Given the description of an element on the screen output the (x, y) to click on. 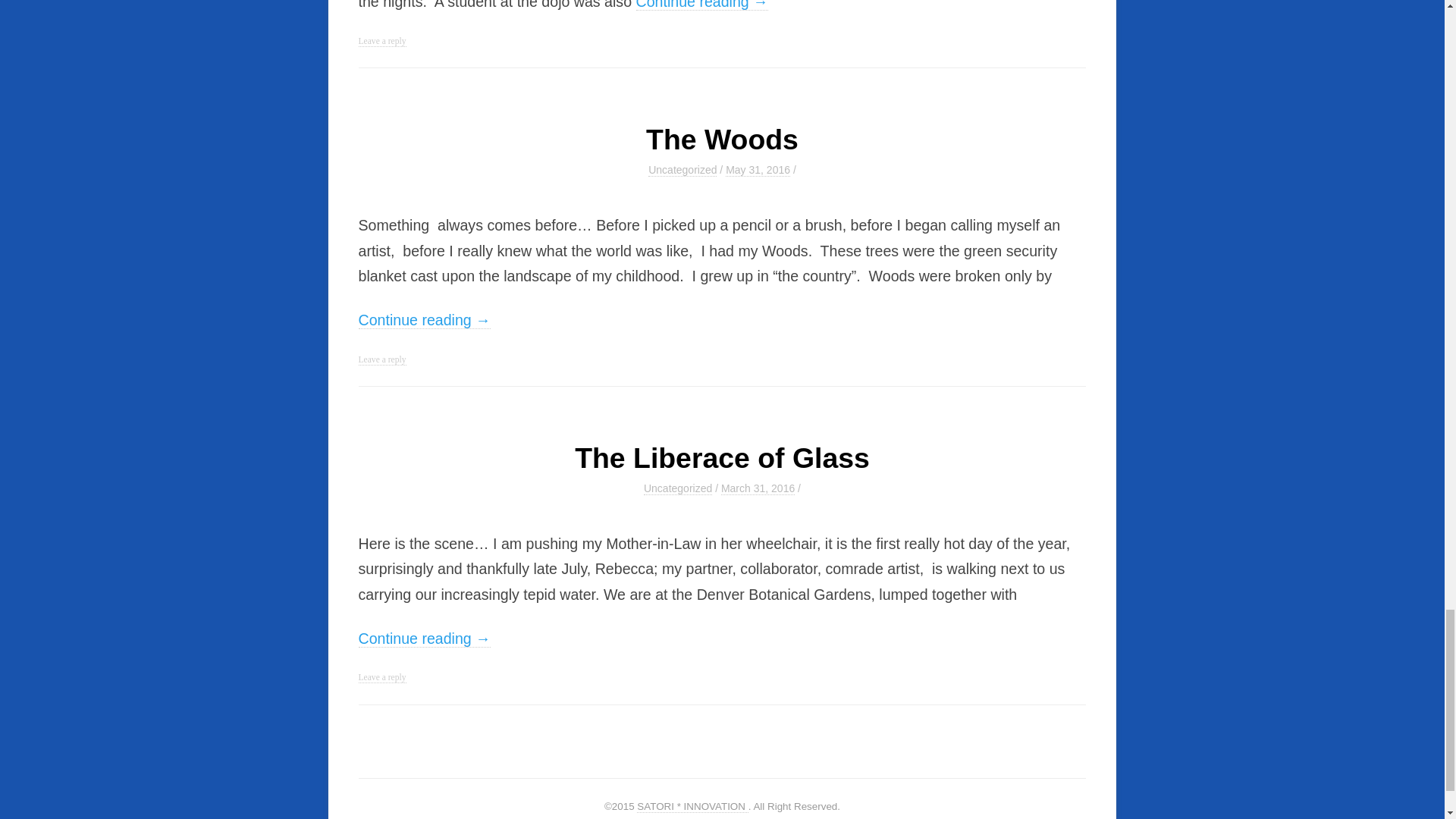
5:27 pm (757, 169)
5:28 pm (757, 488)
